Given the description of an element on the screen output the (x, y) to click on. 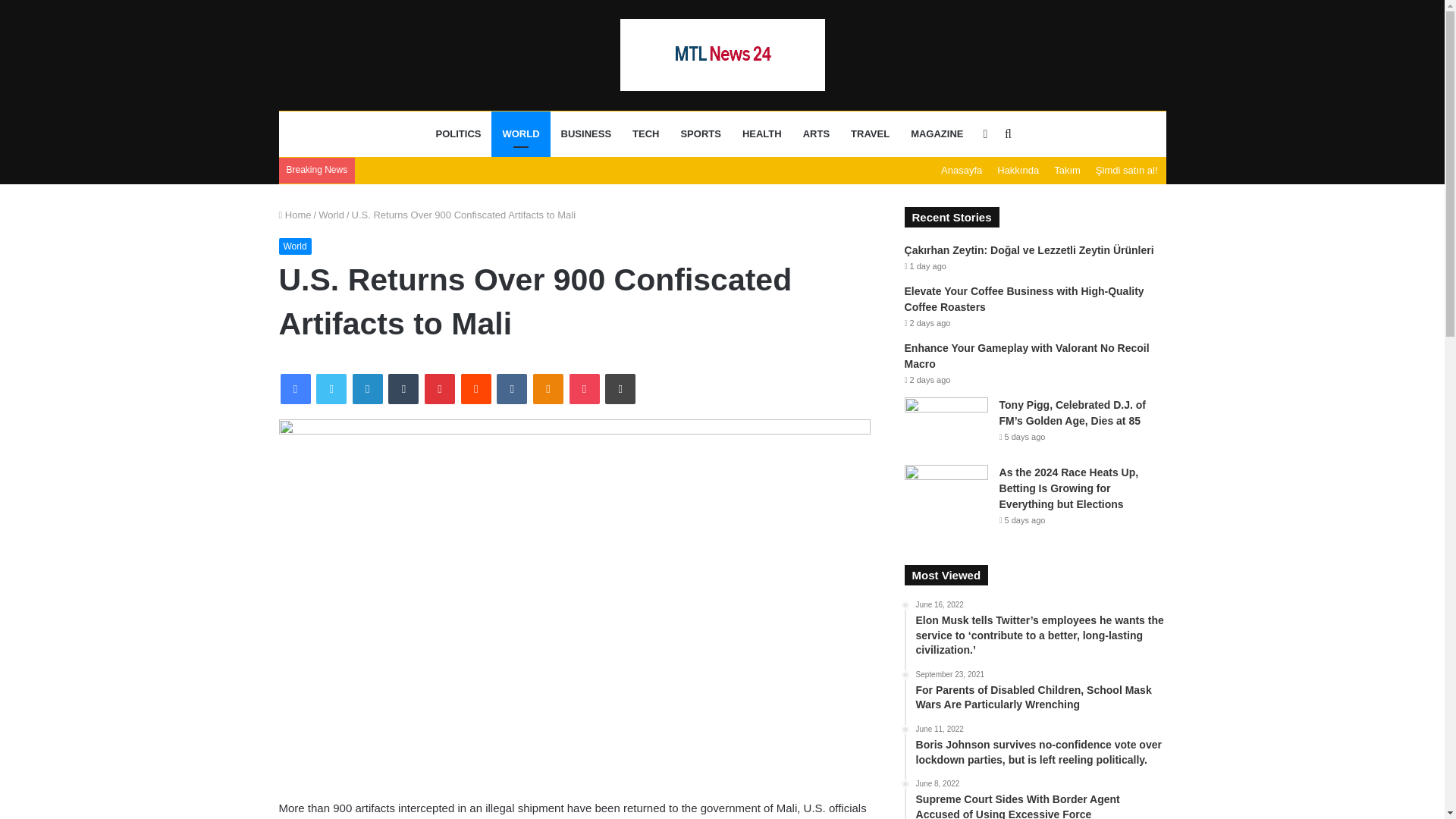
World (295, 246)
Pinterest (439, 388)
VKontakte (511, 388)
Twitter (330, 388)
Twitter (330, 388)
Reddit (476, 388)
Reddit (476, 388)
VKontakte (511, 388)
WORLD (521, 134)
Odnoklassniki (547, 388)
